Given the description of an element on the screen output the (x, y) to click on. 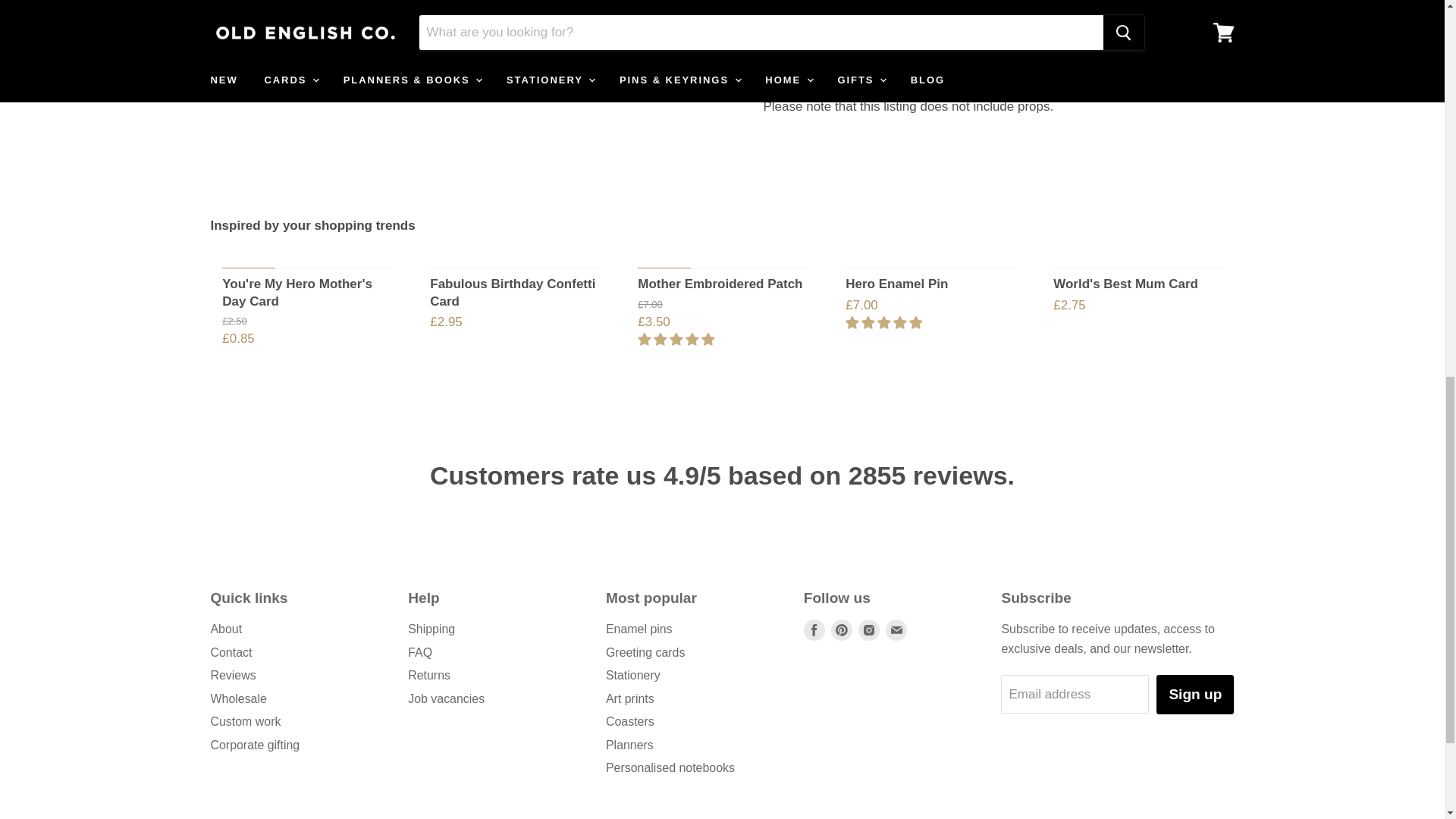
Instagram (869, 629)
Pinterest (841, 629)
E-mail (896, 629)
Facebook (814, 629)
